Given the description of an element on the screen output the (x, y) to click on. 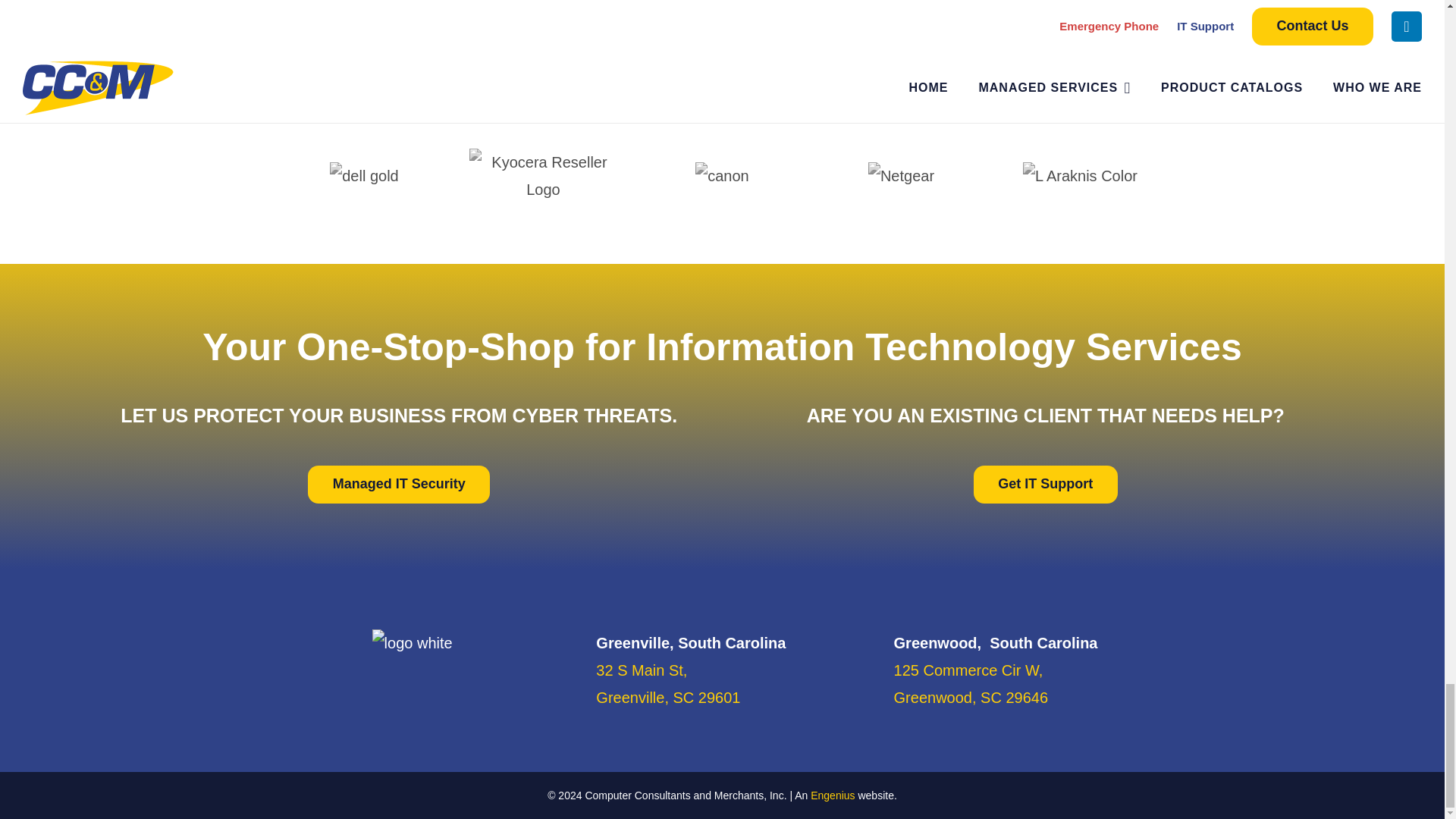
Engenius (832, 795)
IT Support (667, 683)
Home (1046, 484)
Managed IT Security (411, 642)
Get IT Support (398, 484)
Managed IT Security (1046, 484)
